Given the description of an element on the screen output the (x, y) to click on. 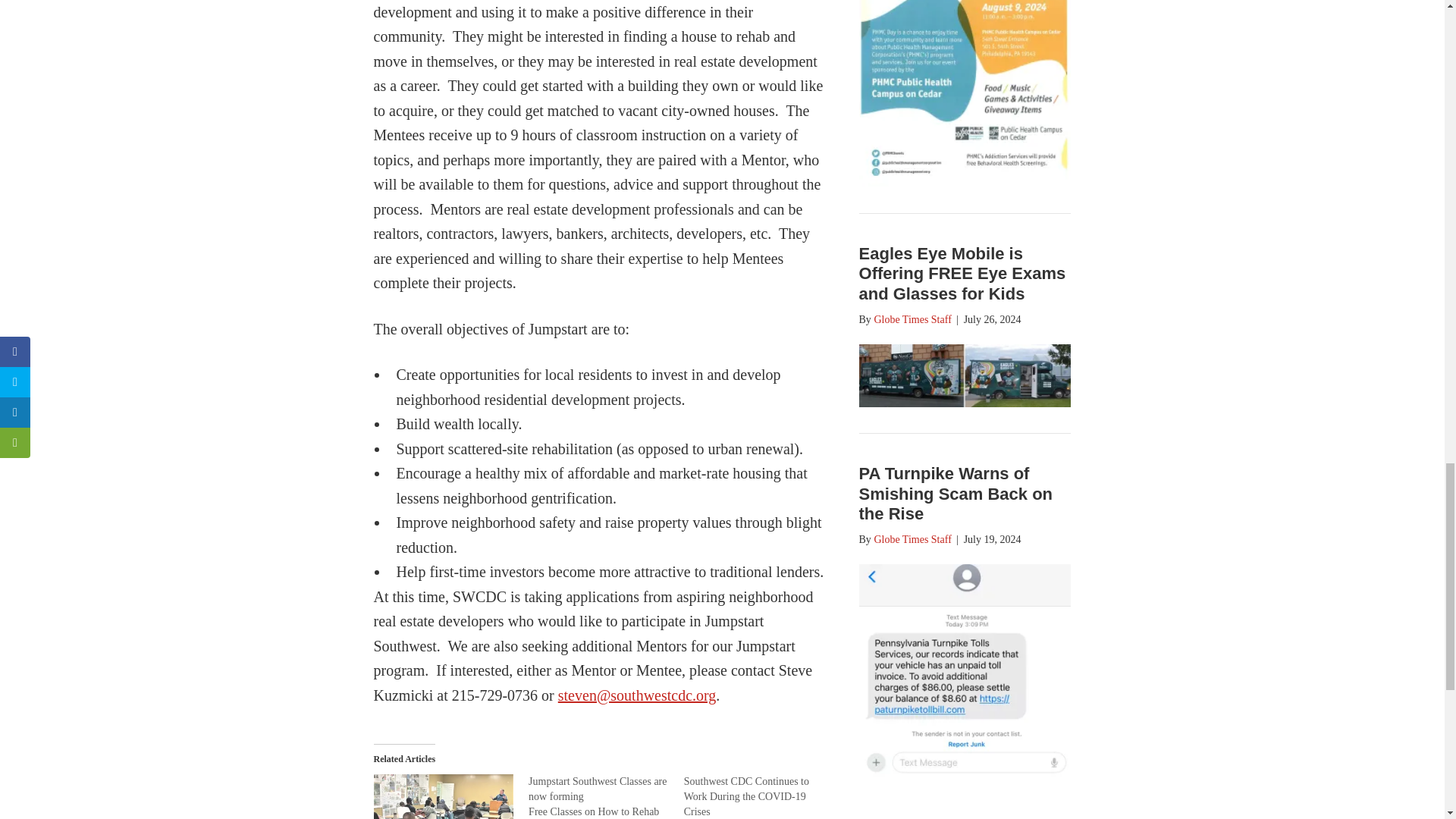
Southwest CDC Continues to Work During the COVID-19 Crises (746, 796)
Southwest CDC Continues to Work During the COVID-19 Crises (762, 796)
Southwest CDC hosts 7th Jumpstart Program (442, 796)
PA Turnpike Warns of Smishing Scam Back on the Rise (955, 493)
Jumpstart Southwest Classes are now forming (606, 796)
Jumpstart Southwest Classes are now forming (597, 788)
Globe Times Staff (911, 319)
Globe Times Staff (911, 539)
PHMC Day at PHMC Public Health Campus on Cedar! (965, 180)
Jumpstart Southwest Classes are now forming (597, 788)
Southwest CDC Continues to Work During the COVID-19 Crises (746, 796)
PA Turnpike Warns of Smishing Scam Back on the Rise (955, 493)
